Given the description of an element on the screen output the (x, y) to click on. 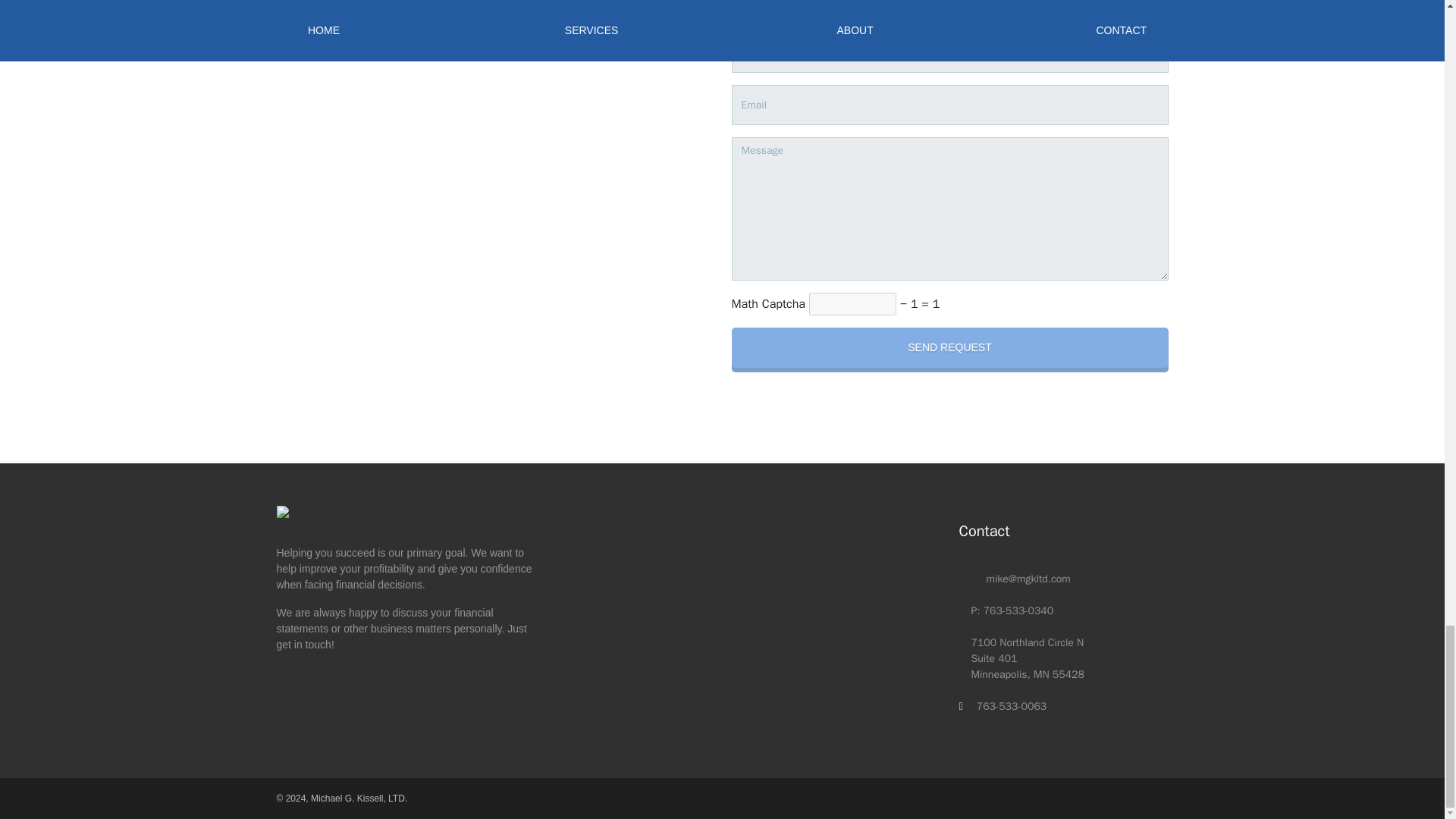
763-533-0063 (1011, 706)
SEND REQUEST (948, 347)
P: 763-533-0340 (1011, 610)
SEND REQUEST (948, 347)
